Given the description of an element on the screen output the (x, y) to click on. 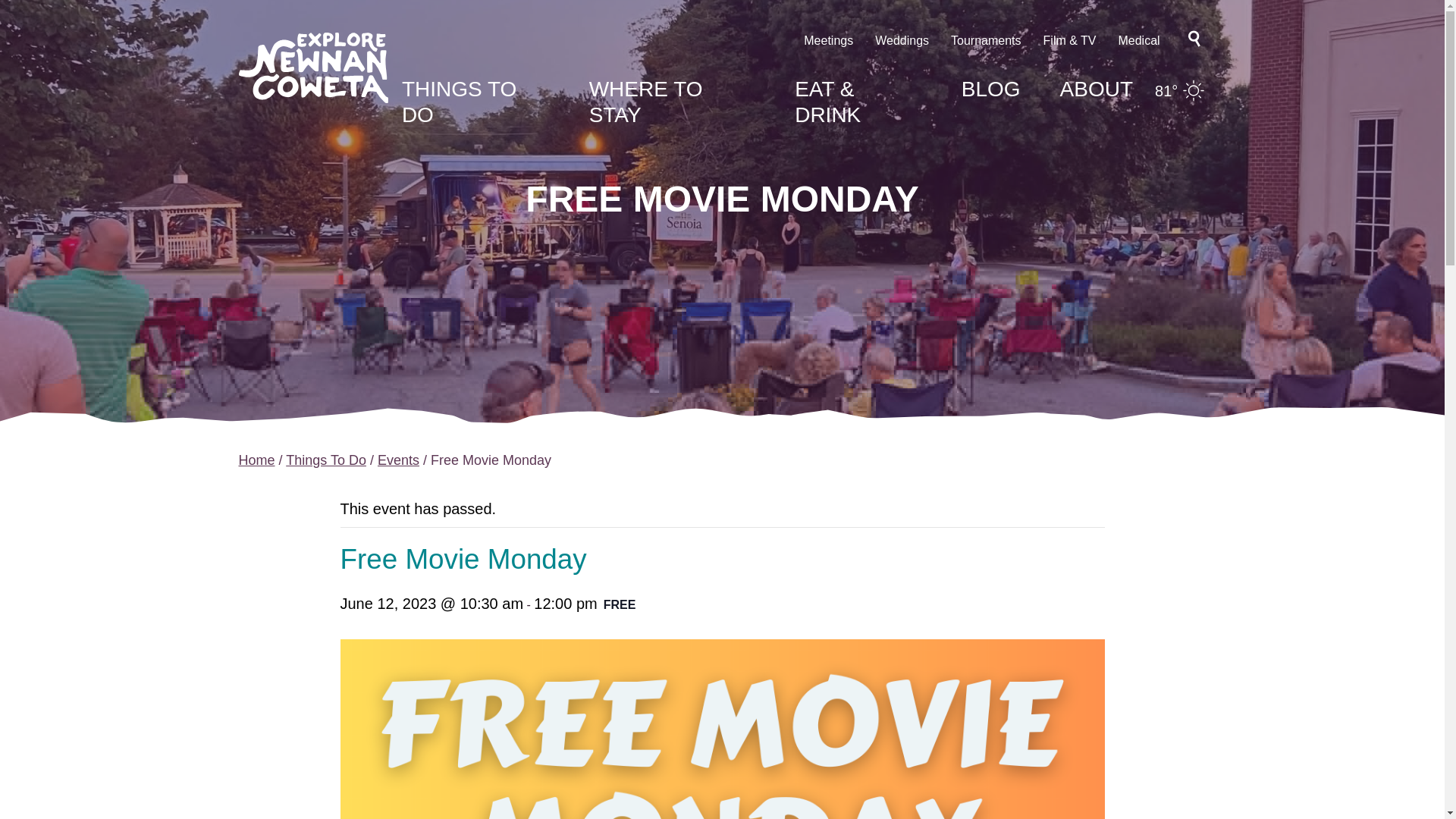
Weddings (901, 40)
THINGS TO DO (458, 101)
WHERE TO STAY (646, 101)
Medical (1138, 40)
Meetings (828, 40)
Tournaments (986, 40)
